Given the description of an element on the screen output the (x, y) to click on. 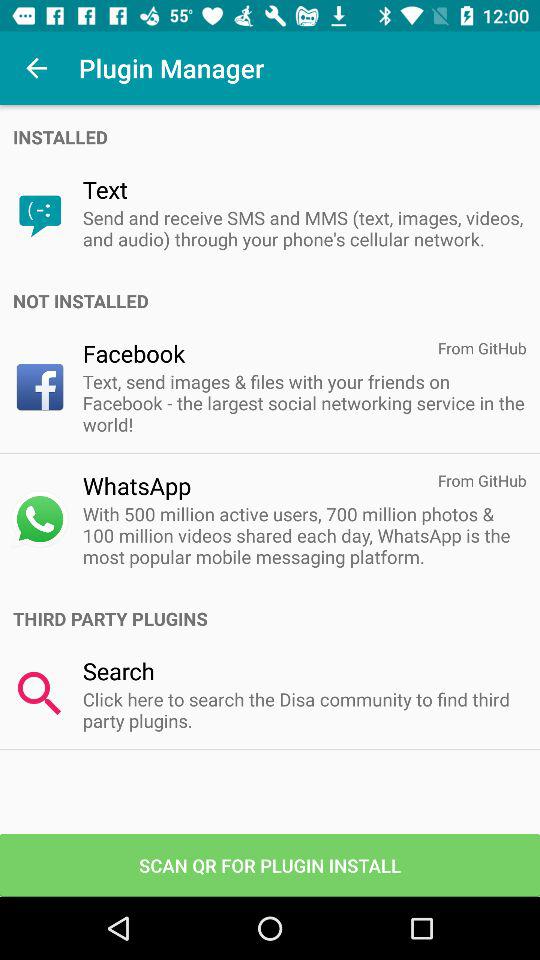
tap the icon above the not installed (304, 228)
